Given the description of an element on the screen output the (x, y) to click on. 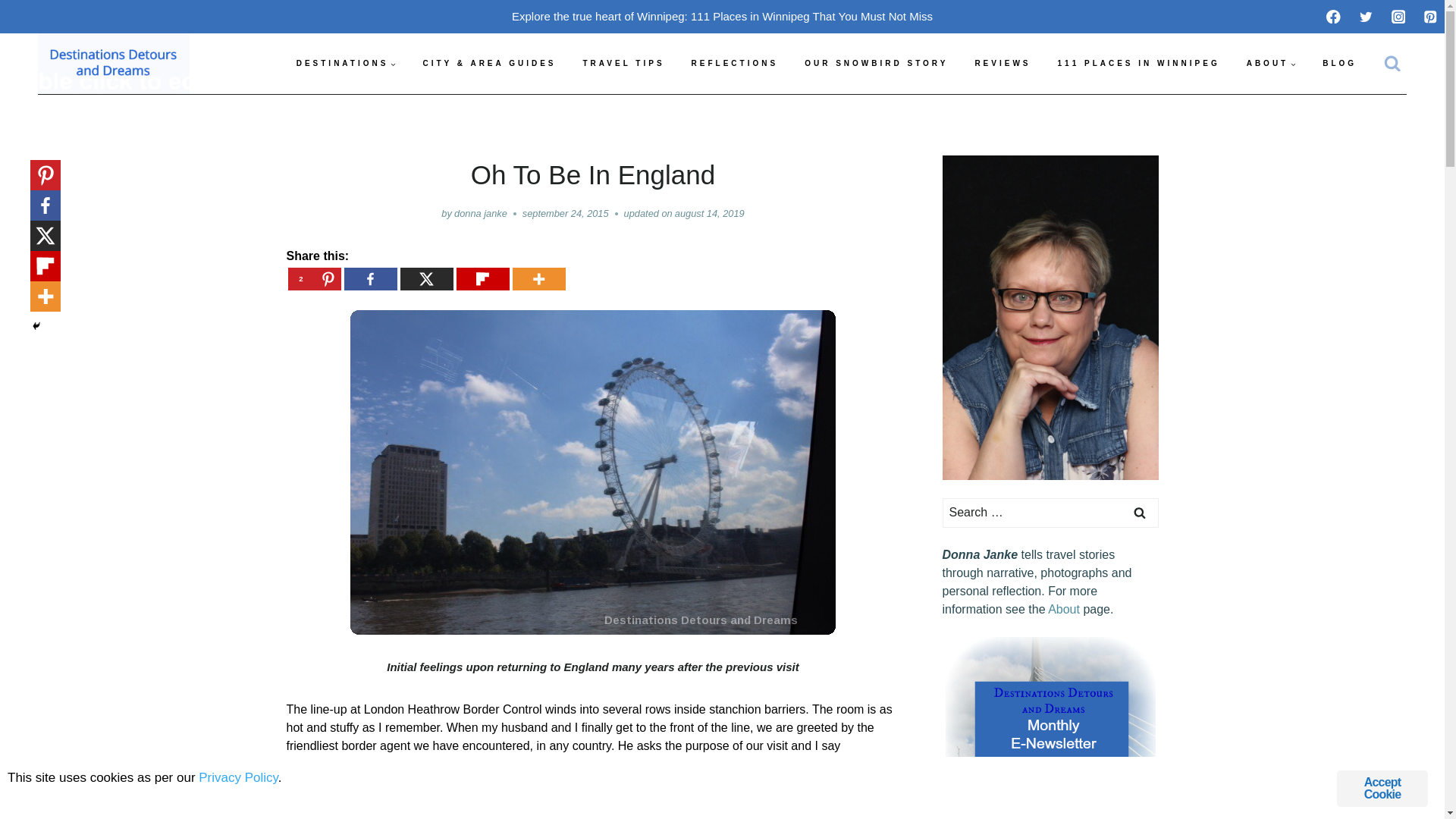
Pinterest (314, 278)
Flipboard (45, 265)
Search (1139, 512)
X (426, 278)
Facebook (45, 205)
DESTINATIONS (345, 63)
More (45, 296)
Facebook (370, 278)
Travel Thoughts (735, 63)
REVIEWS (1001, 63)
Flipboard (483, 278)
X (45, 235)
ABOUT (1270, 63)
2 (314, 278)
